Given the description of an element on the screen output the (x, y) to click on. 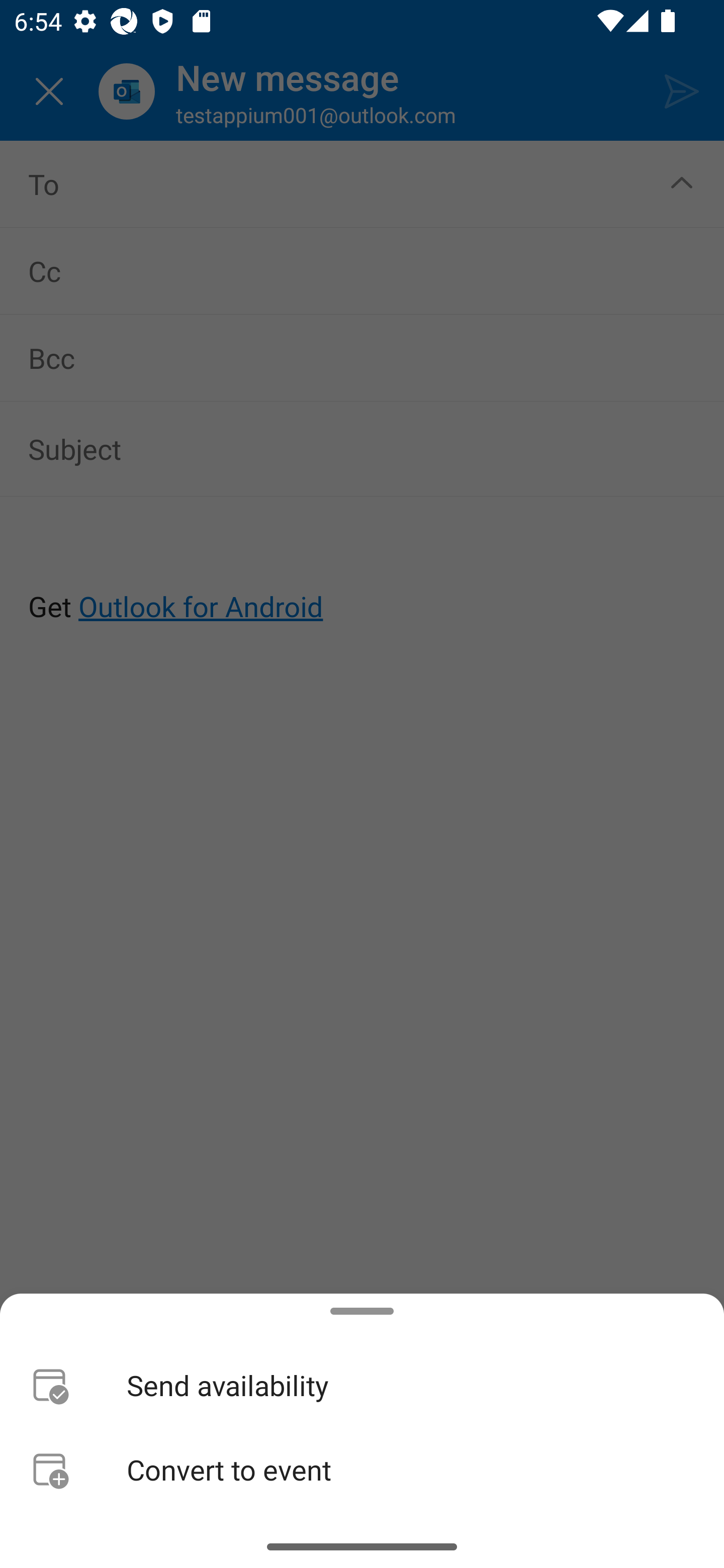
Send availability (362, 1384)
Convert to event (362, 1468)
